Given the description of an element on the screen output the (x, y) to click on. 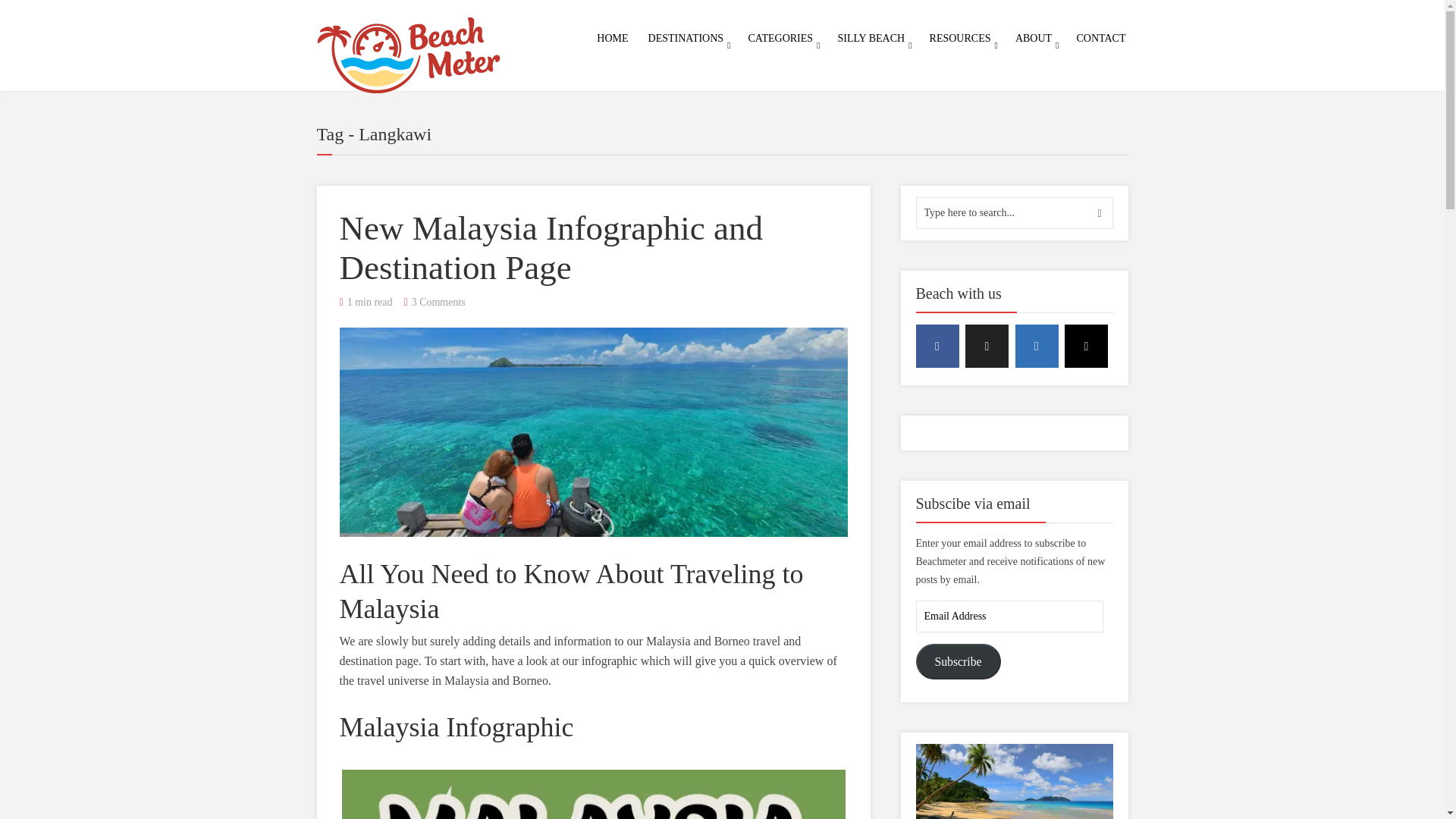
New Malaysia Infographic and Destination Page (550, 247)
Beachmeter (408, 51)
Linkedin (1036, 345)
Type here to search... (1014, 213)
SILLY BEACH (870, 38)
CATEGORIES (780, 38)
DESTINATIONS (686, 38)
Type here to search... (1014, 213)
Instagram (1086, 345)
New Malaysia Infographic and Destination Page (593, 432)
Facebook (937, 345)
